Given the description of an element on the screen output the (x, y) to click on. 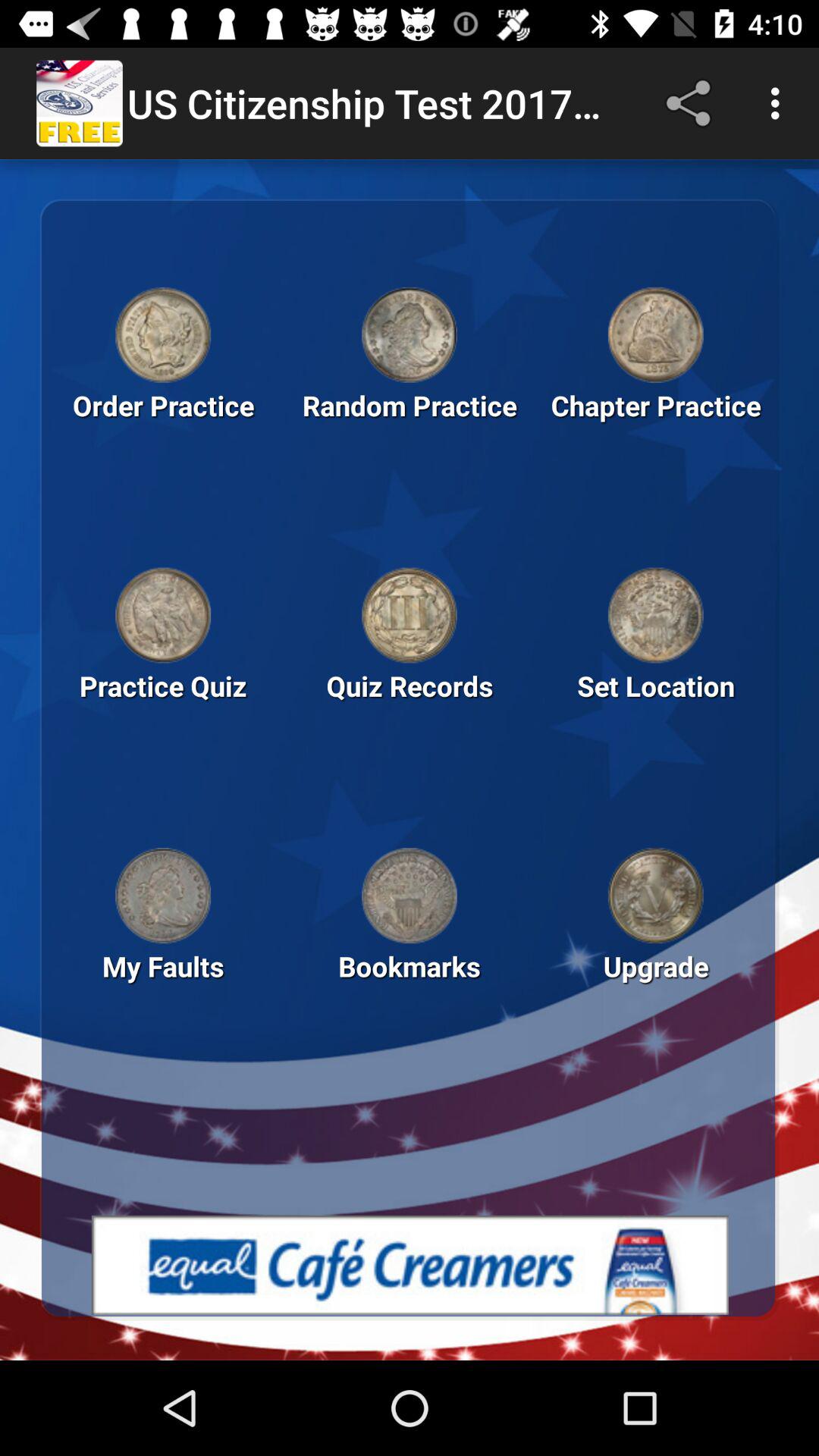
link to advertisement (409, 1264)
